Given the description of an element on the screen output the (x, y) to click on. 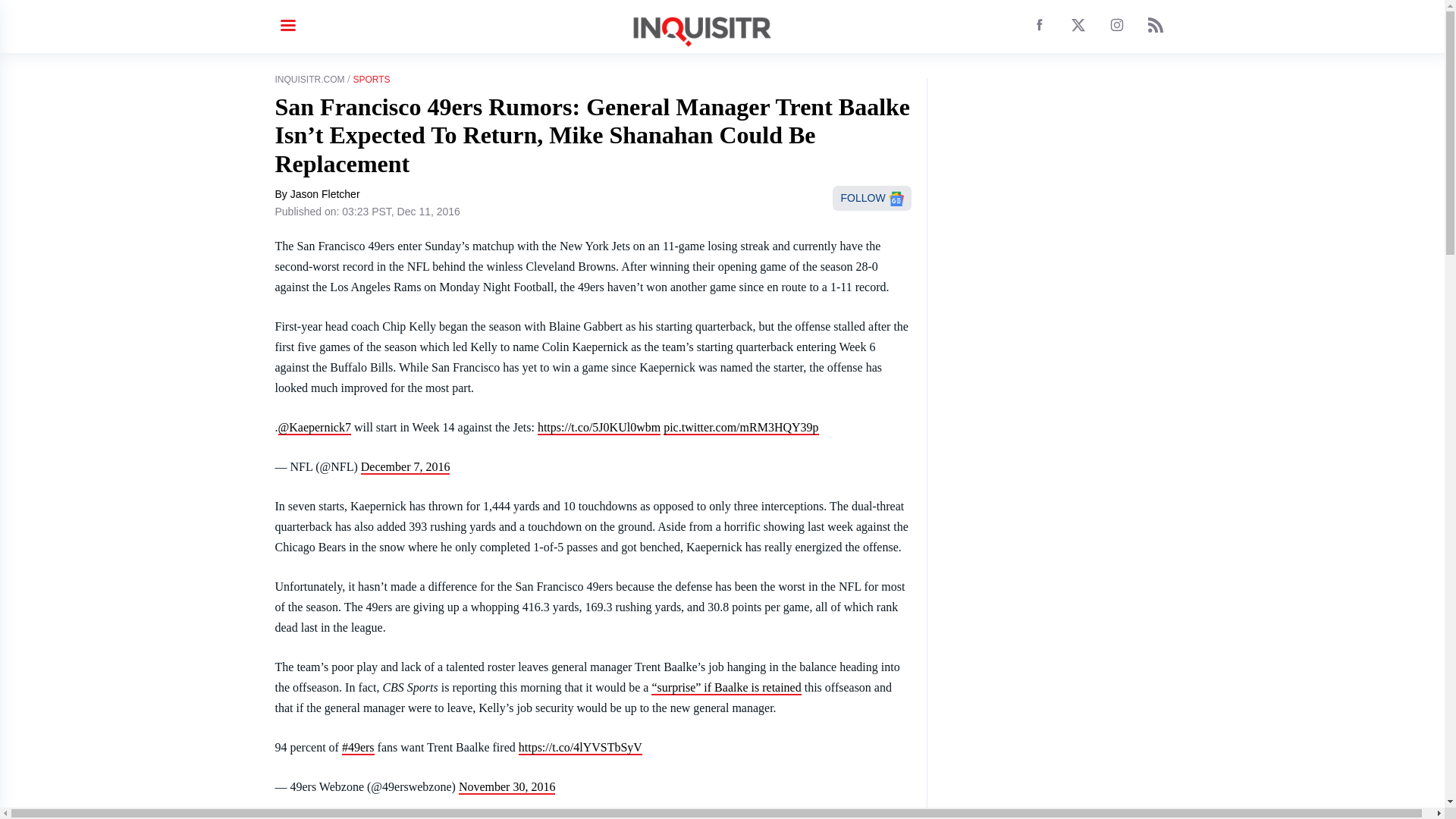
INQUISITR.COM (309, 79)
SPORTS (371, 79)
